Given the description of an element on the screen output the (x, y) to click on. 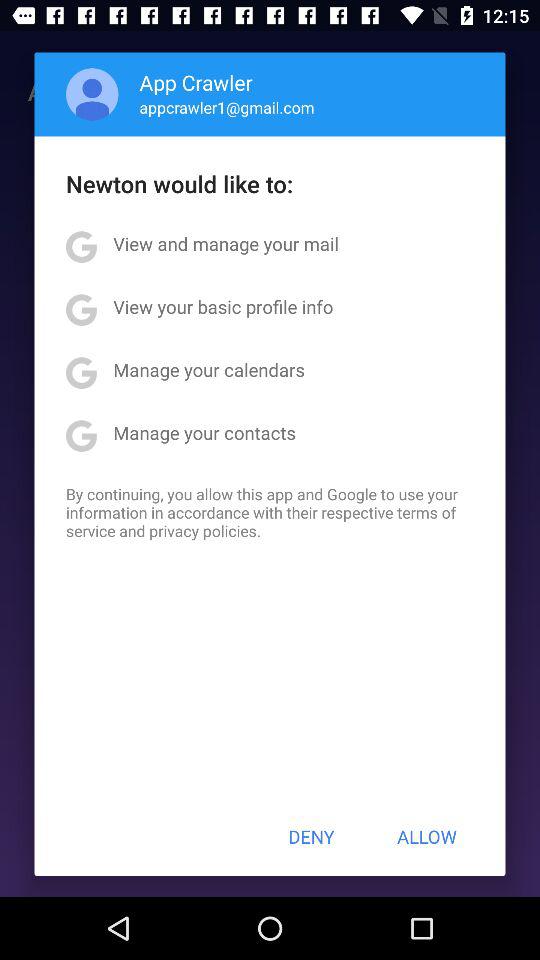
turn on the app above the appcrawler1@gmail.com (195, 82)
